Given the description of an element on the screen output the (x, y) to click on. 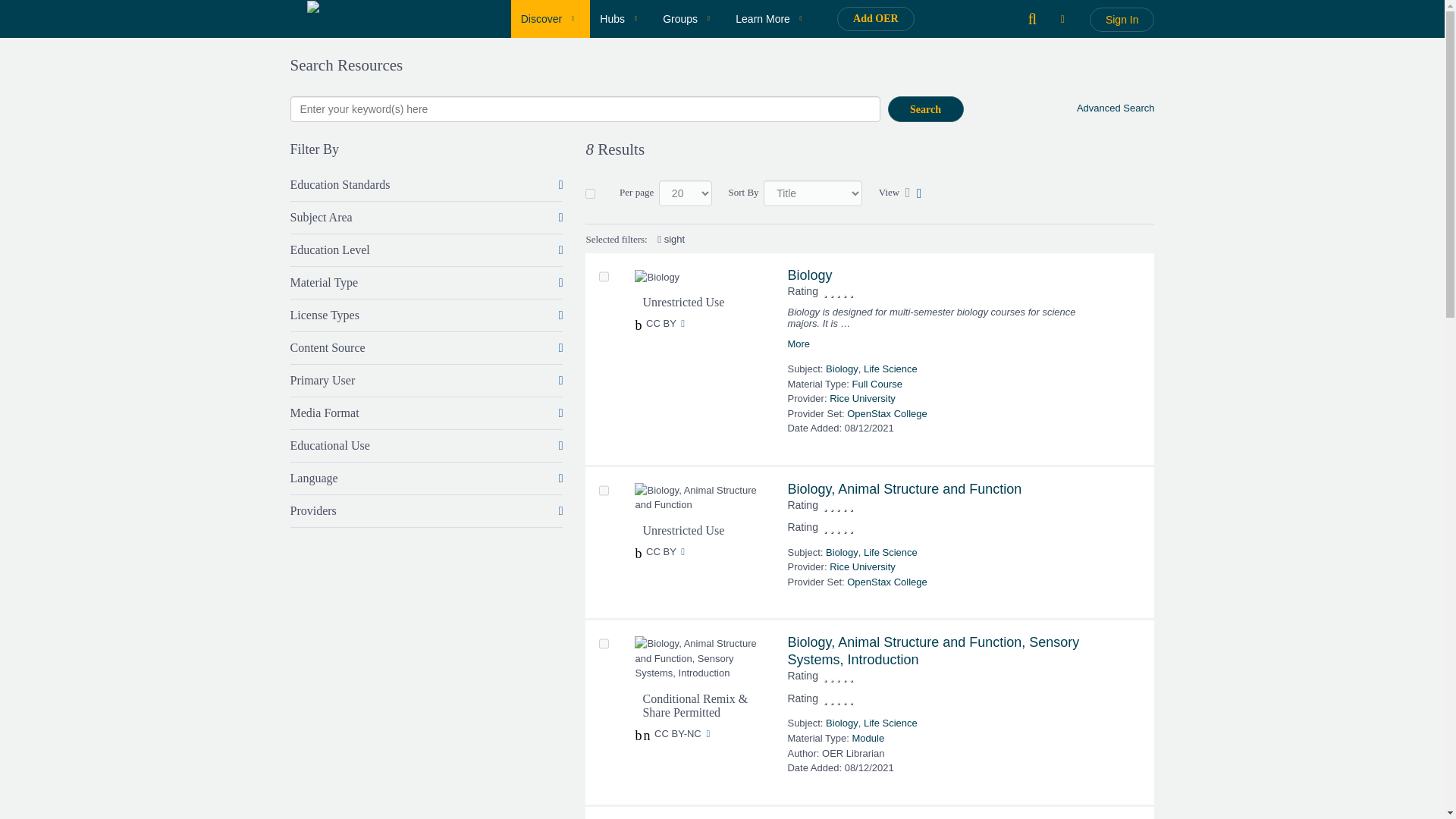
on (590, 193)
Discover (551, 18)
Hubs (620, 18)
Sign In (1121, 19)
Learn More (771, 18)
Groups (688, 18)
Show add OER options (875, 18)
Search keywords (584, 109)
Add OER (875, 18)
